Given the description of an element on the screen output the (x, y) to click on. 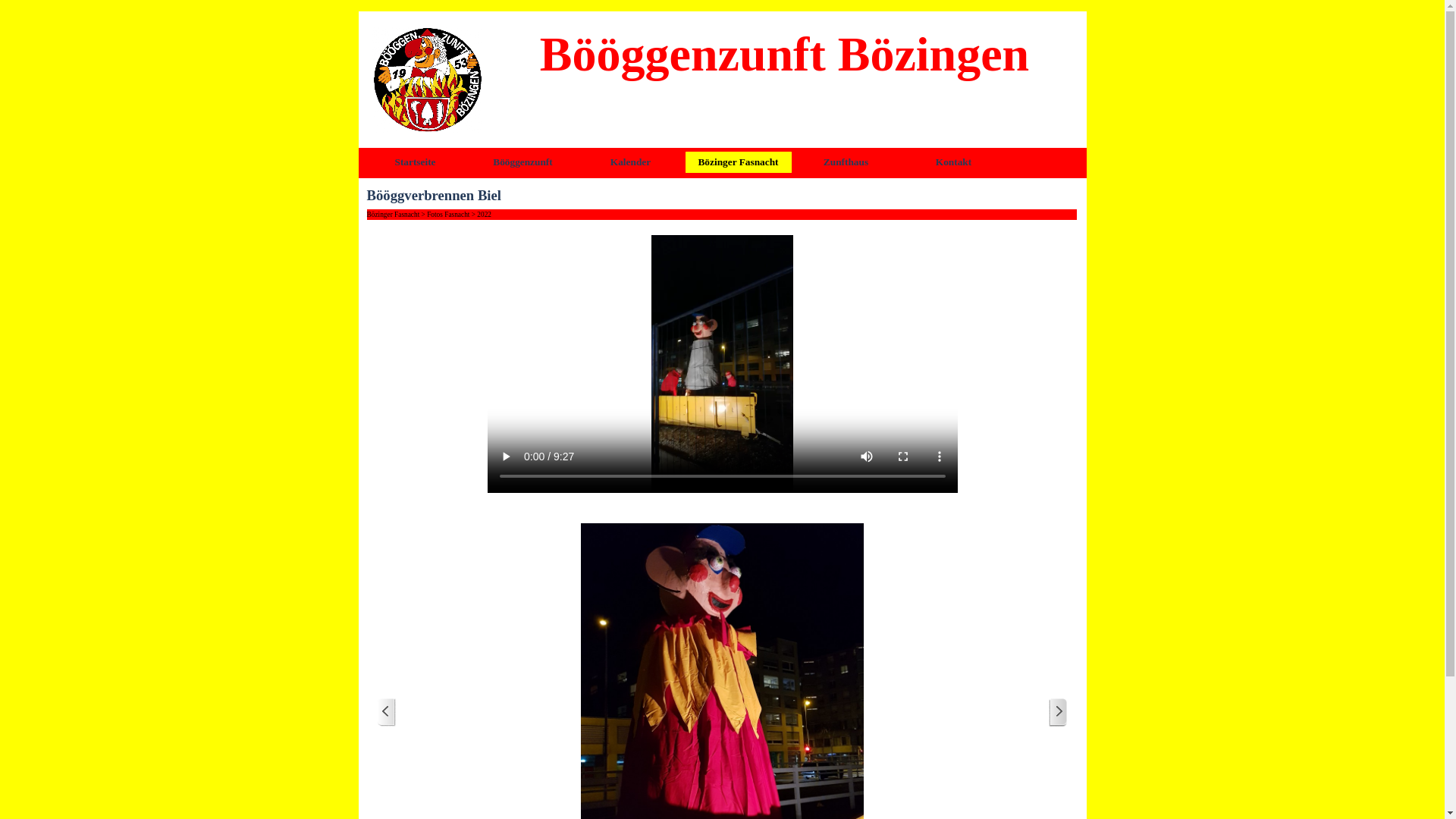
Kontakt Element type: text (952, 161)
Startseite Element type: text (414, 161)
